Given the description of an element on the screen output the (x, y) to click on. 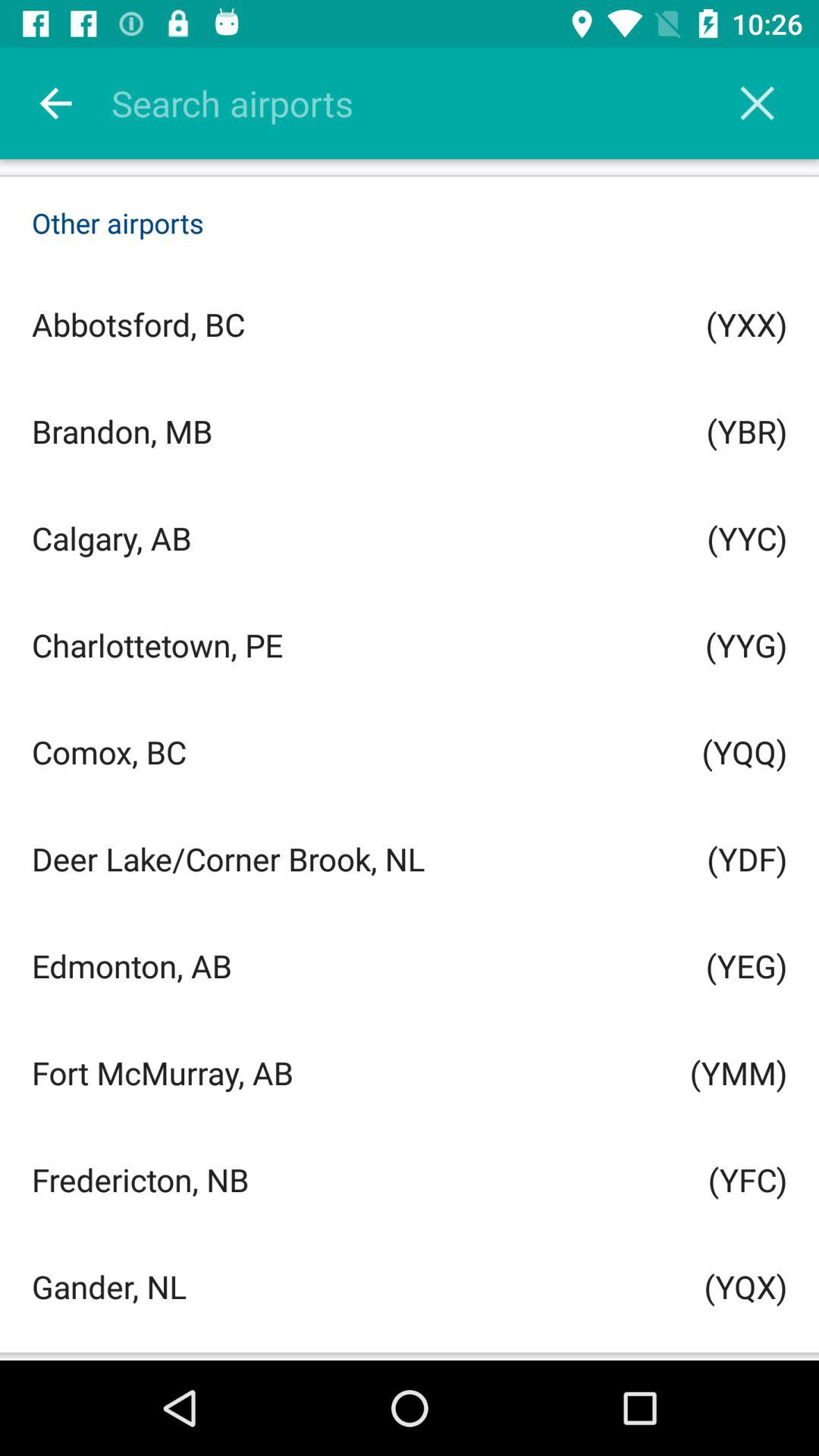
close the page (757, 103)
